Given the description of an element on the screen output the (x, y) to click on. 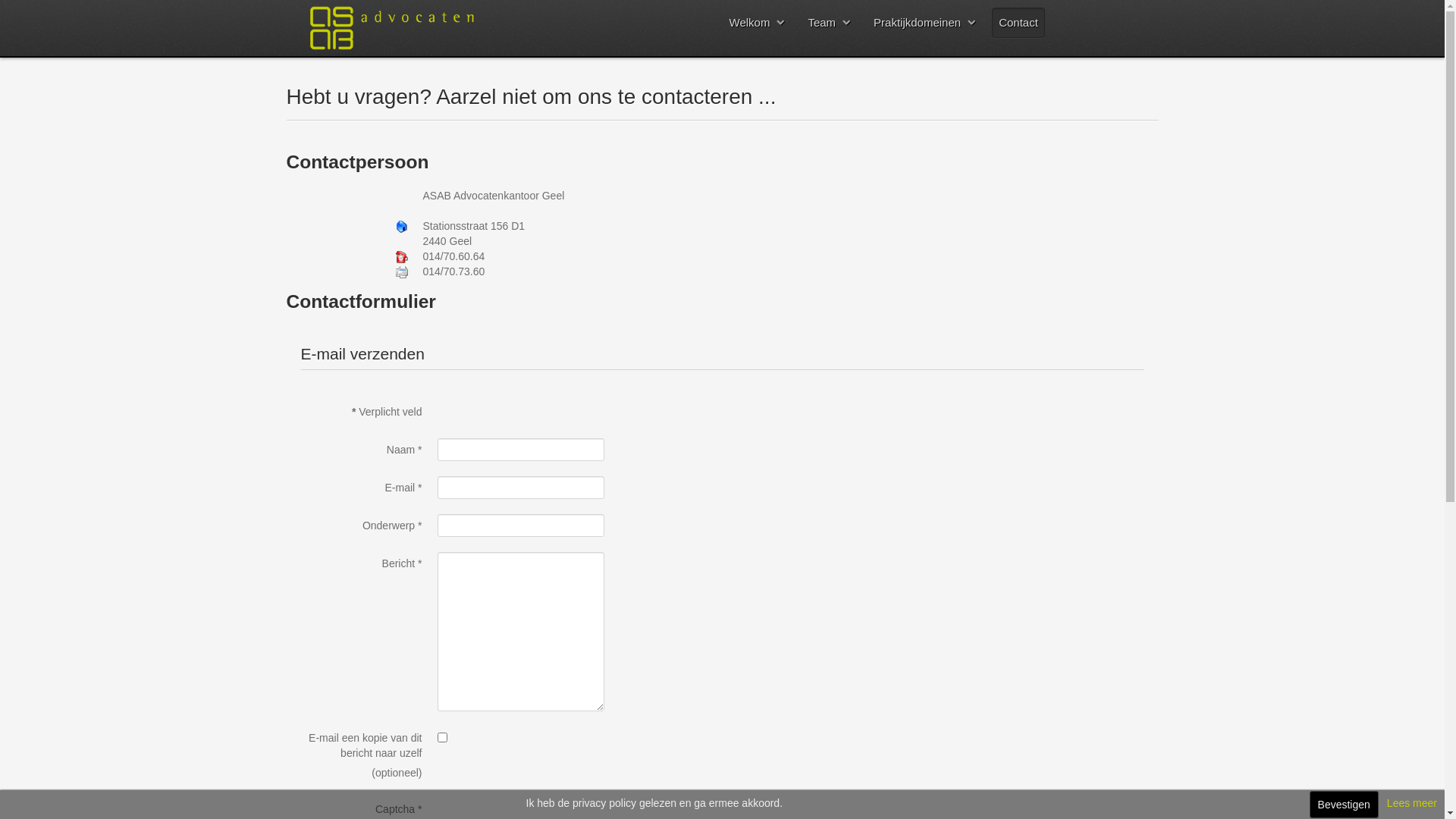
Contact Element type: text (1018, 22)
Lees meer Element type: text (1411, 802)
Praktijkdomeinen Element type: text (923, 22)
Welkom Element type: text (756, 22)
Team Element type: text (827, 22)
